Given the description of an element on the screen output the (x, y) to click on. 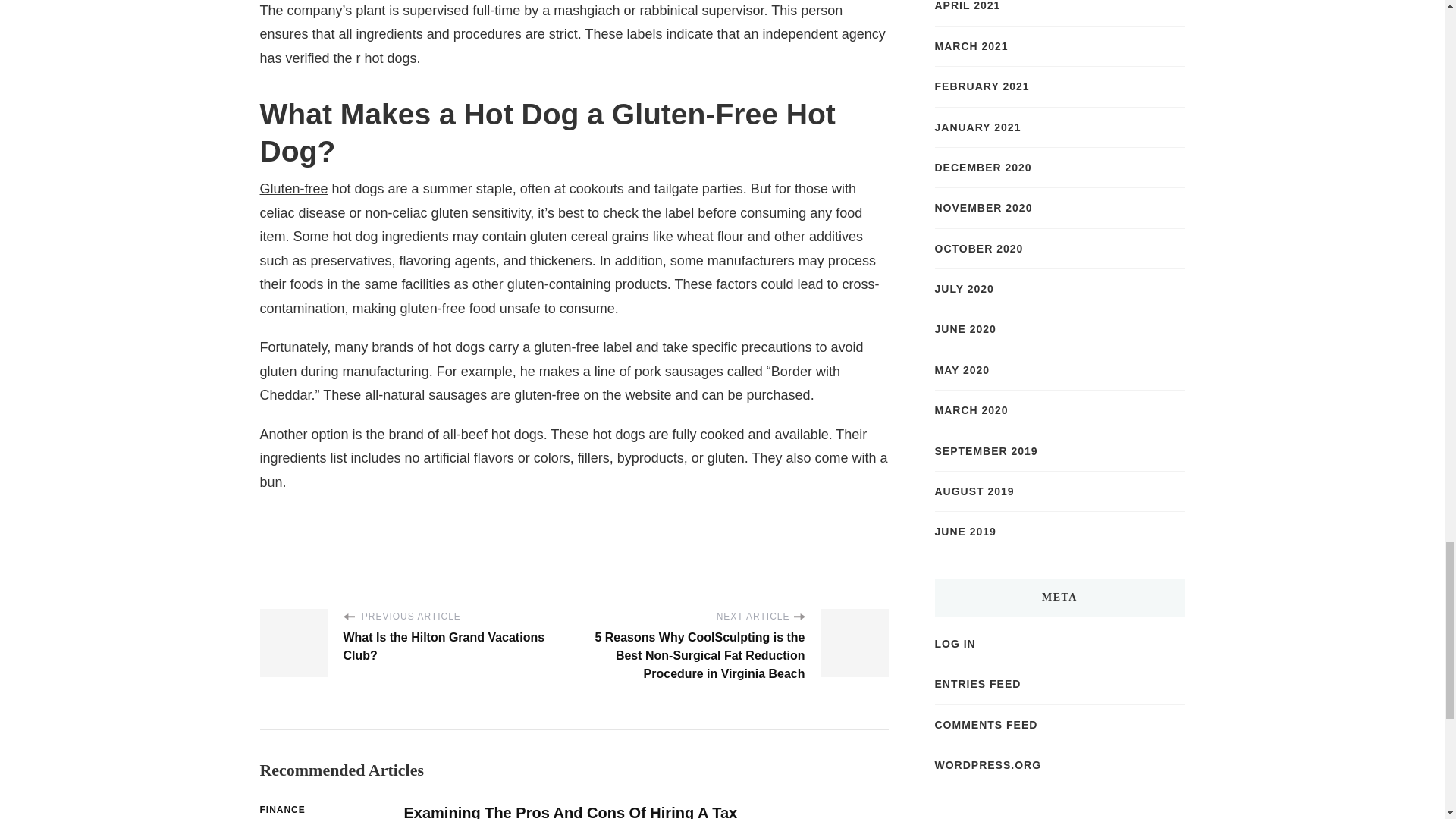
FINANCE (281, 810)
Examining The Pros And Cons Of Hiring A Tax Professional (569, 811)
Gluten-free (293, 188)
